Given the description of an element on the screen output the (x, y) to click on. 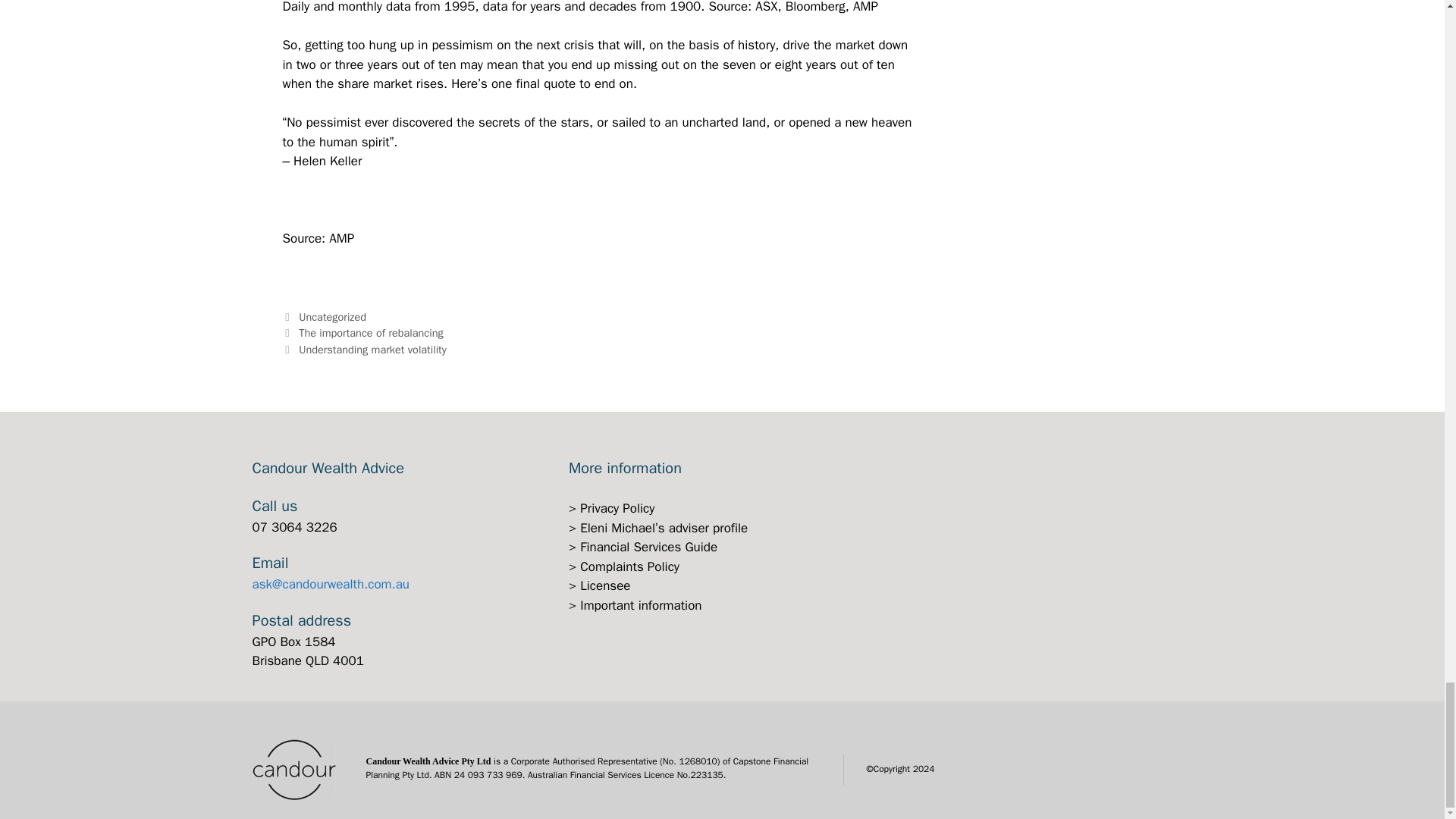
Understanding market volatility (372, 349)
Uncategorized (332, 316)
The importance of rebalancing (371, 332)
